Given the description of an element on the screen output the (x, y) to click on. 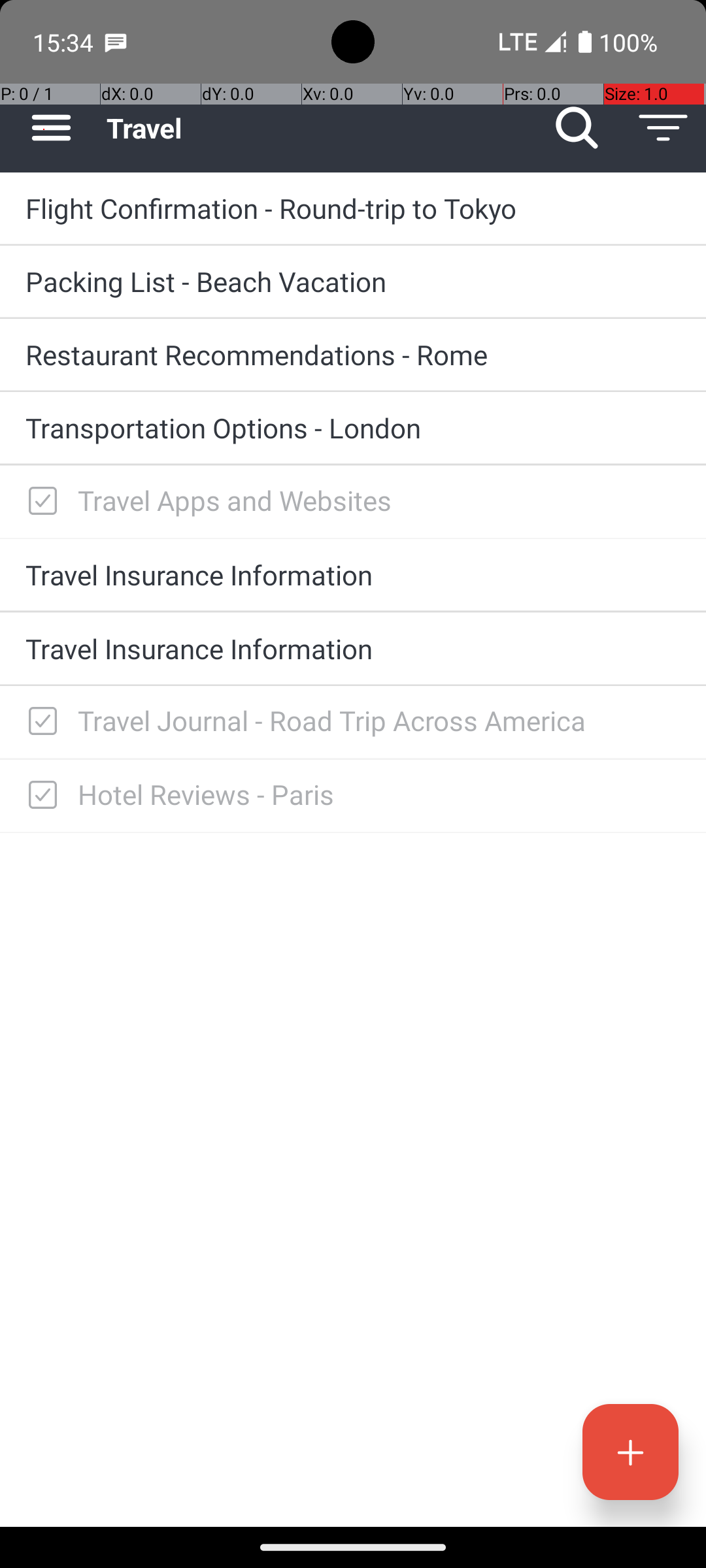
Flight Confirmation - Round-trip to Tokyo Element type: android.widget.TextView (352, 207)
Packing List - Beach Vacation Element type: android.widget.TextView (352, 280)
Transportation Options - London Element type: android.widget.TextView (352, 427)
to-do: Travel Apps and Websites Element type: android.widget.CheckBox (38, 501)
Travel Apps and Websites Element type: android.widget.TextView (378, 499)
Travel Insurance Information Element type: android.widget.TextView (352, 574)
to-do: Travel Journal - Road Trip Across America Element type: android.widget.CheckBox (38, 722)
Travel Journal - Road Trip Across America Element type: android.widget.TextView (378, 719)
to-do: Hotel Reviews - Paris Element type: android.widget.CheckBox (38, 795)
Hotel Reviews - Paris Element type: android.widget.TextView (378, 793)
